Given the description of an element on the screen output the (x, y) to click on. 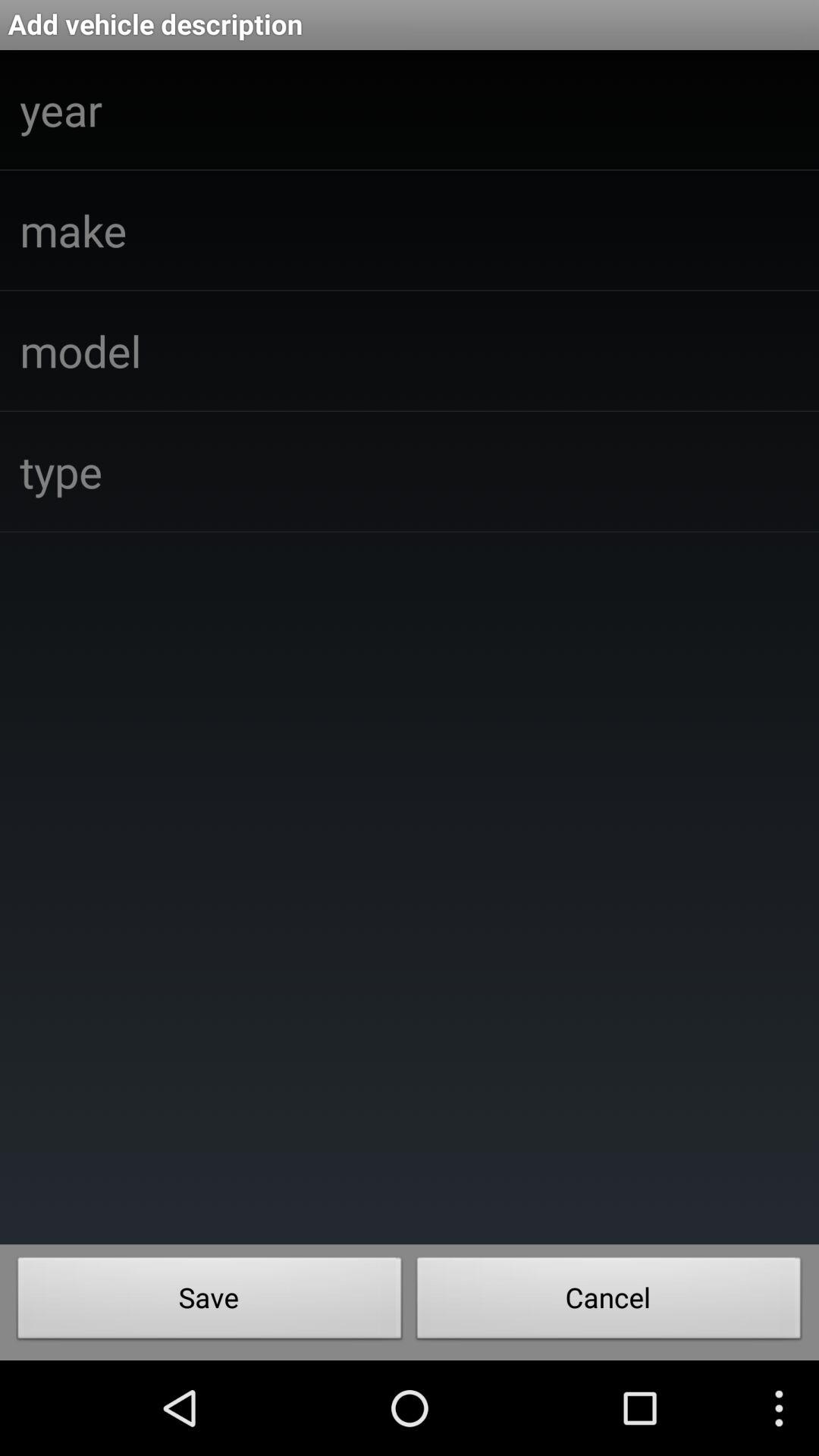
turn on the item at the bottom right corner (608, 1302)
